Given the description of an element on the screen output the (x, y) to click on. 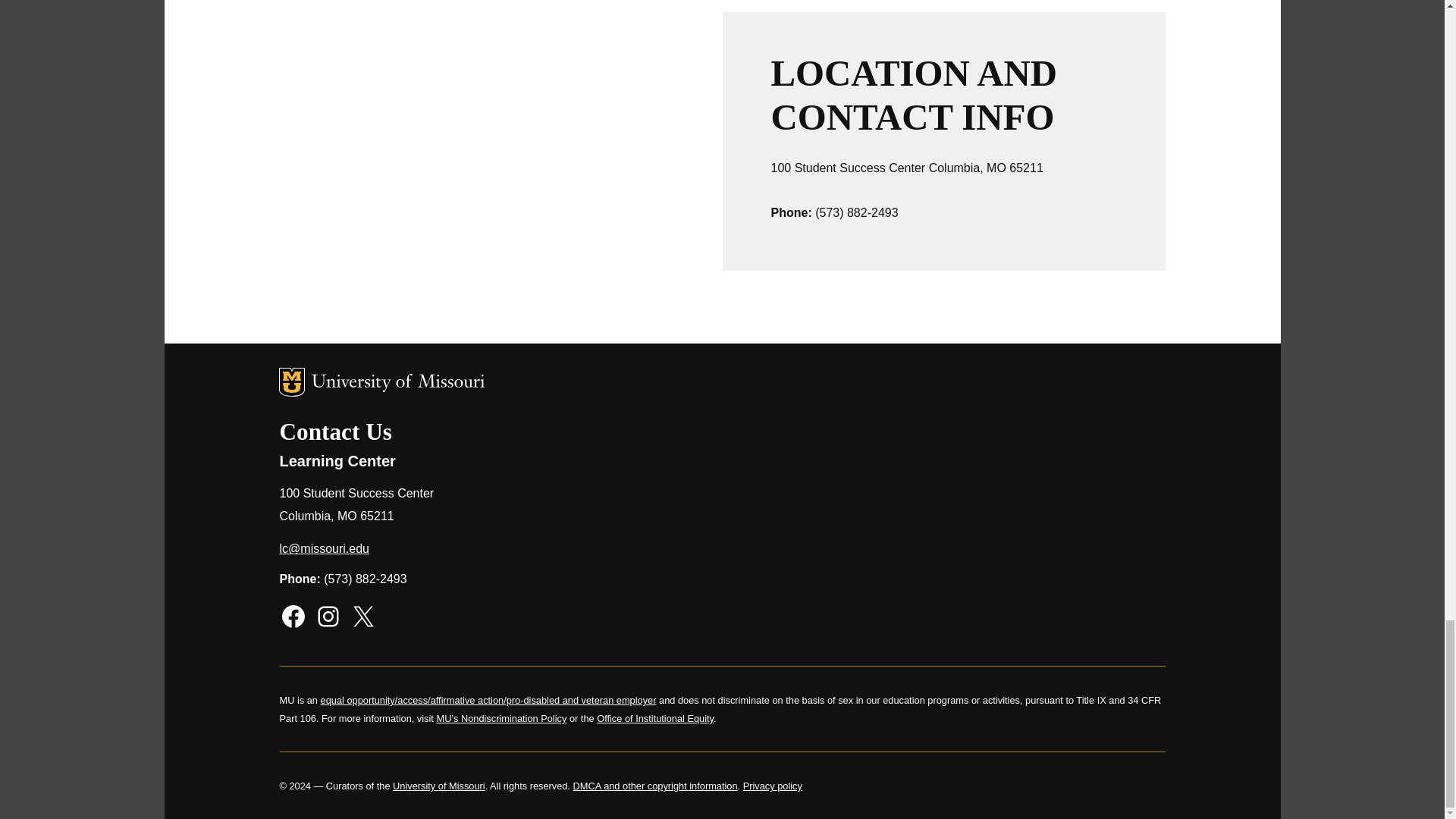
Learning Center Location (500, 160)
